Given the description of an element on the screen output the (x, y) to click on. 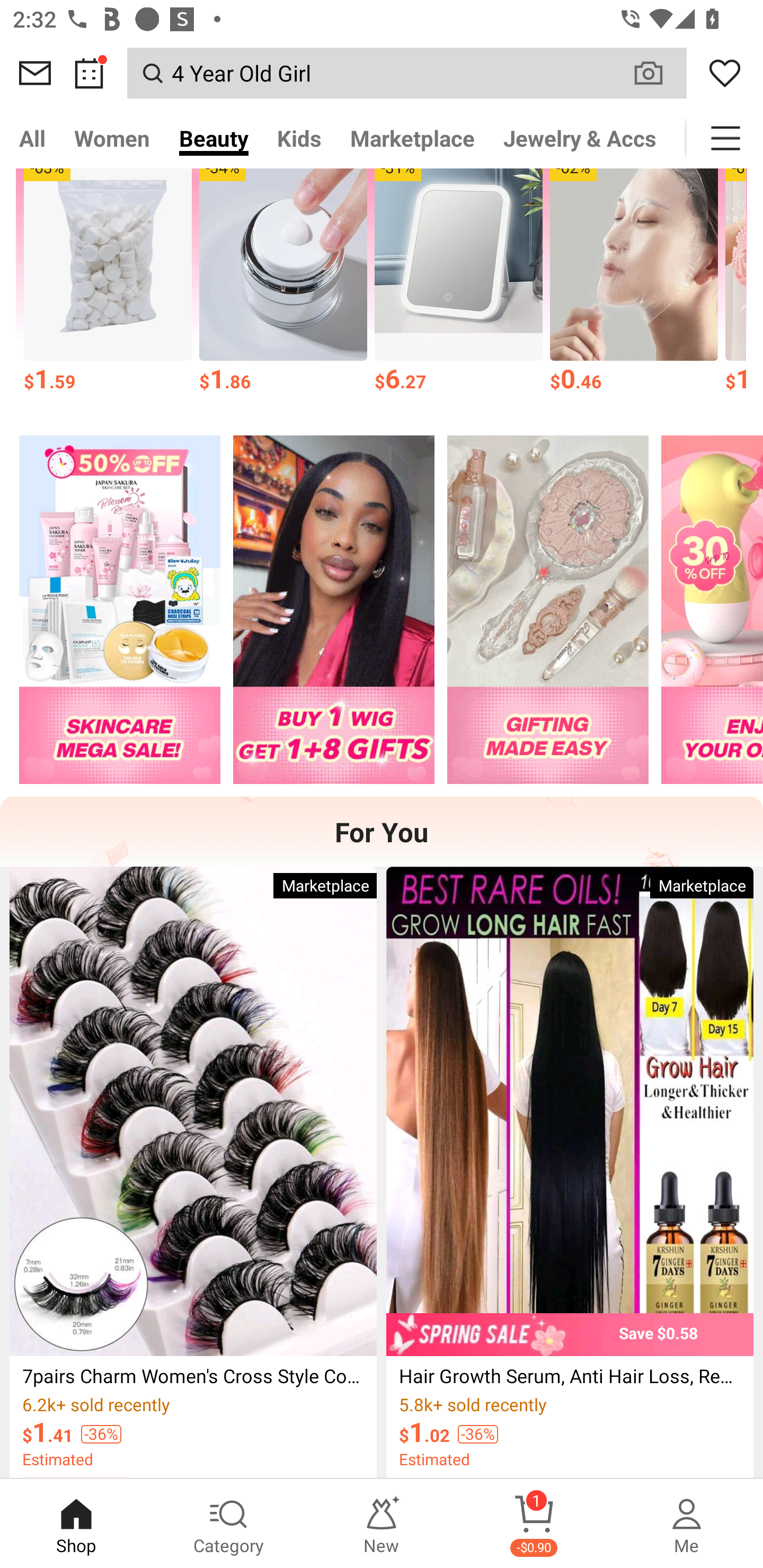
Wishlist (724, 72)
VISUAL SEARCH (657, 72)
All (31, 137)
Women (111, 137)
Beauty (213, 137)
Kids (298, 137)
Marketplace (412, 137)
Jewelry & Accs (580, 137)
Category (228, 1523)
New (381, 1523)
Cart 1 -$0.90 (533, 1523)
Me (686, 1523)
